Given the description of an element on the screen output the (x, y) to click on. 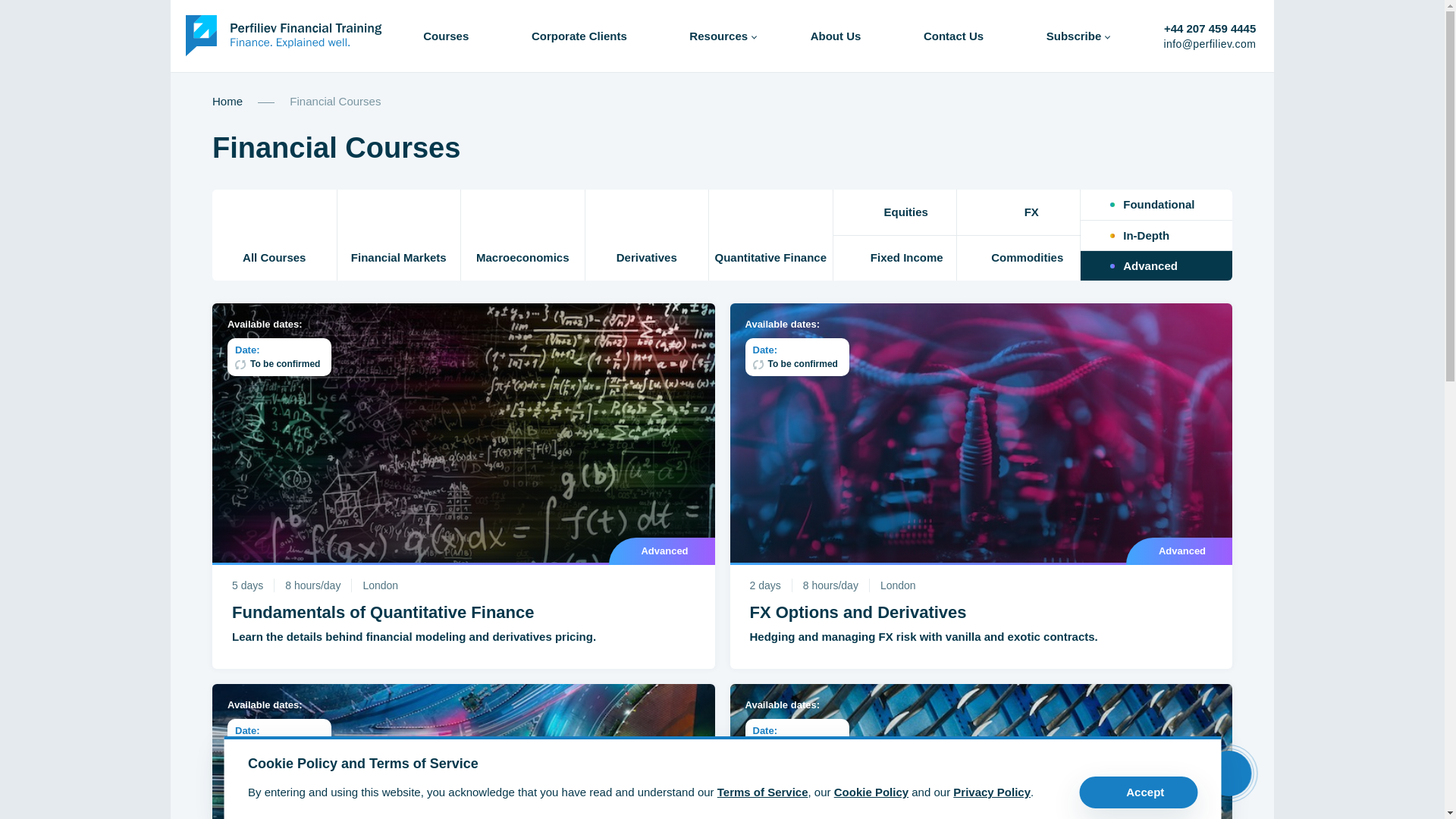
Courses (445, 35)
Quantitative Finance (770, 234)
Contact Us (953, 35)
Macroeconomics (523, 234)
FX (1018, 212)
Commodities (1018, 257)
Fixed Income (894, 257)
Home (229, 101)
About Us (835, 35)
Equities (894, 212)
Derivatives (647, 234)
Resources (722, 35)
Financial Markets (398, 234)
All Courses (274, 234)
Corporate Clients (579, 35)
